Given the description of an element on the screen output the (x, y) to click on. 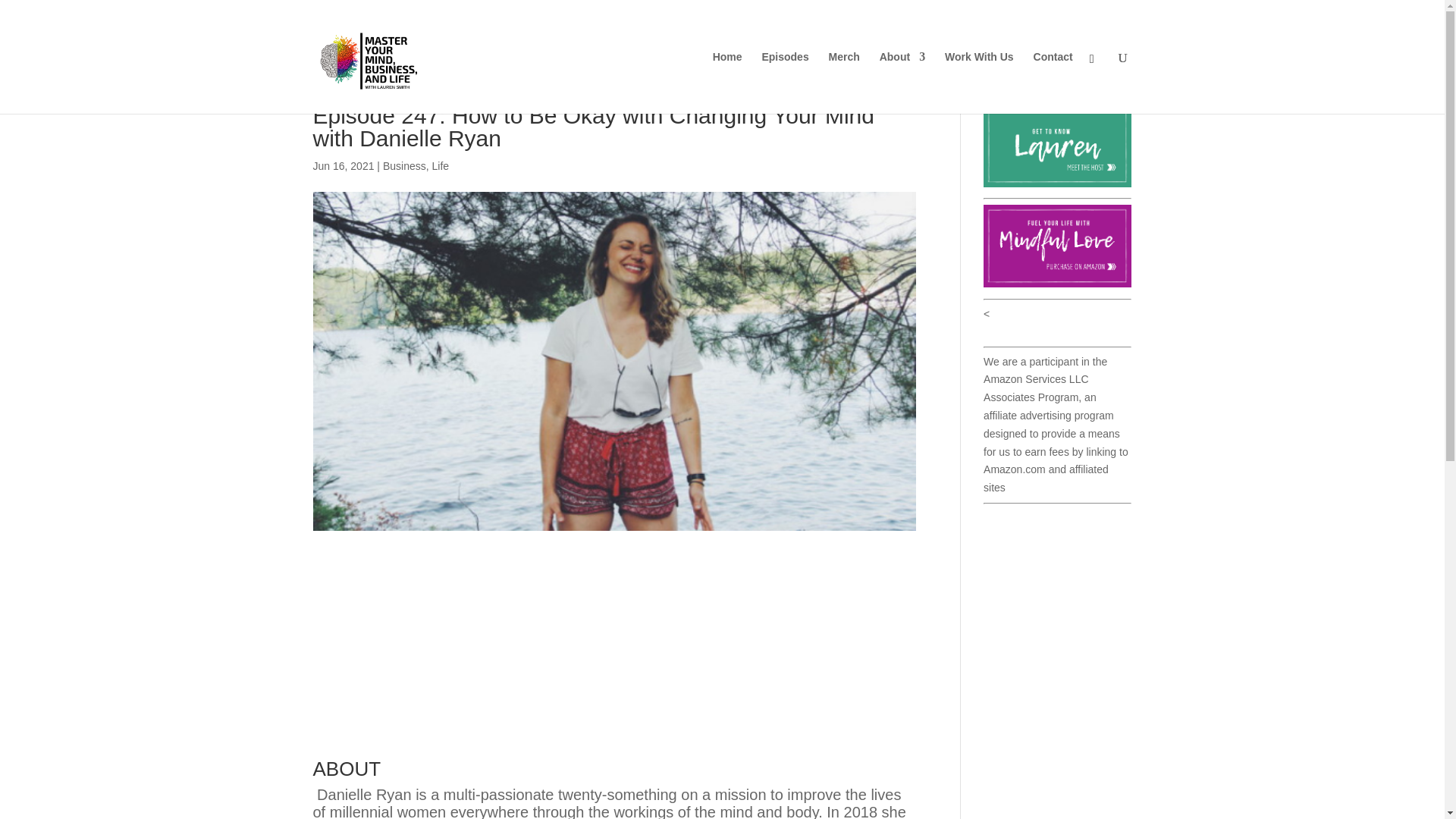
Work With Us (978, 82)
How to Be Okay with Changing Your Mind with Danielle Ryan (614, 654)
Life (439, 165)
Business (404, 165)
